Given the description of an element on the screen output the (x, y) to click on. 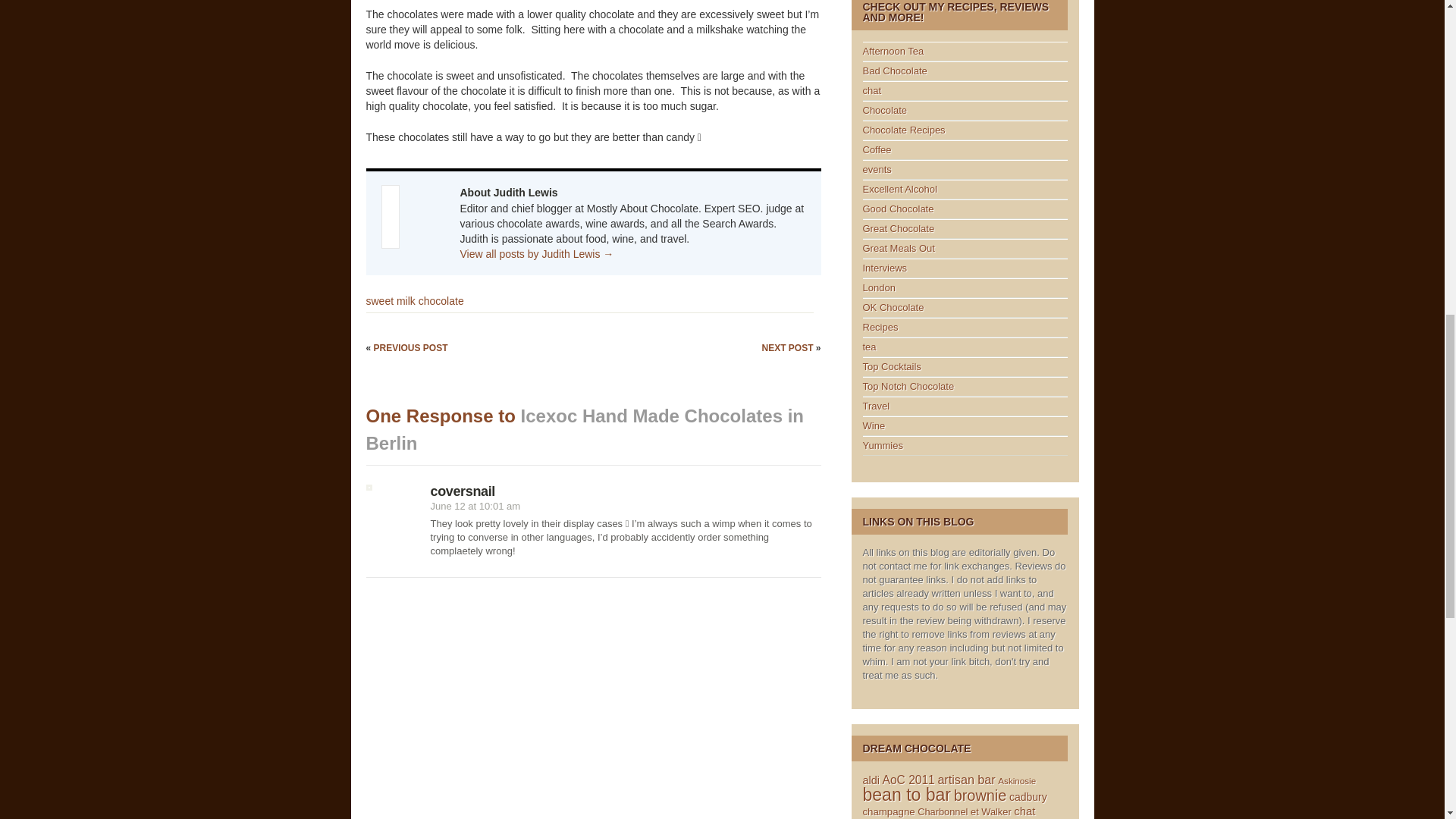
Good Chocolate (898, 208)
Chocolate Recipes (903, 129)
sweet milk chocolate (414, 300)
Coffee (877, 149)
Excellent Alcohol (900, 188)
NEXT POST (788, 347)
chat (872, 90)
PREVIOUS POST (411, 347)
June 12 at 10:01 am (475, 505)
London (879, 287)
events (877, 169)
Great Chocolate (898, 228)
Interviews (885, 267)
Bad Chocolate (895, 70)
Afternoon Tea (893, 50)
